Given the description of an element on the screen output the (x, y) to click on. 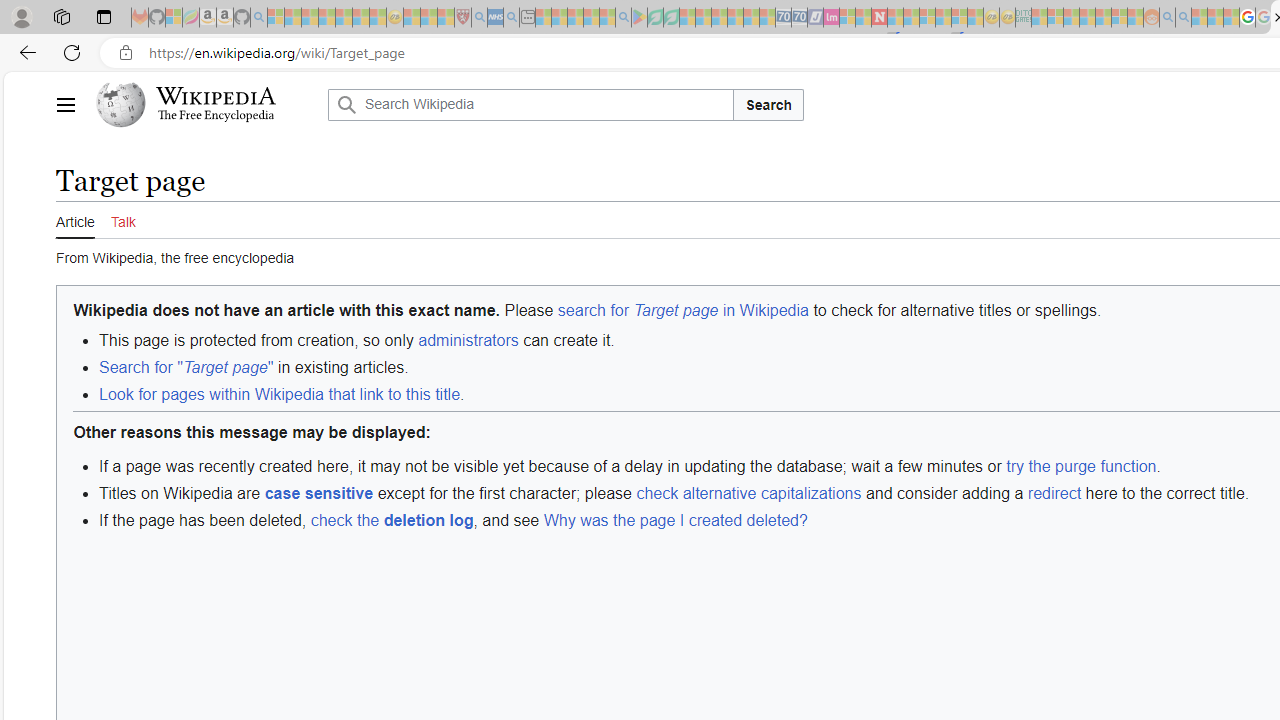
Cheap Hotels - Save70.com - Sleeping (799, 17)
check the deletion log (391, 520)
14 Common Myths Debunked By Scientific Facts - Sleeping (911, 17)
Look for pages within Wikipedia that link to this title (279, 394)
Main menu (65, 104)
check alternative capitalizations (748, 492)
Talk (122, 219)
Article (75, 219)
